Given the description of an element on the screen output the (x, y) to click on. 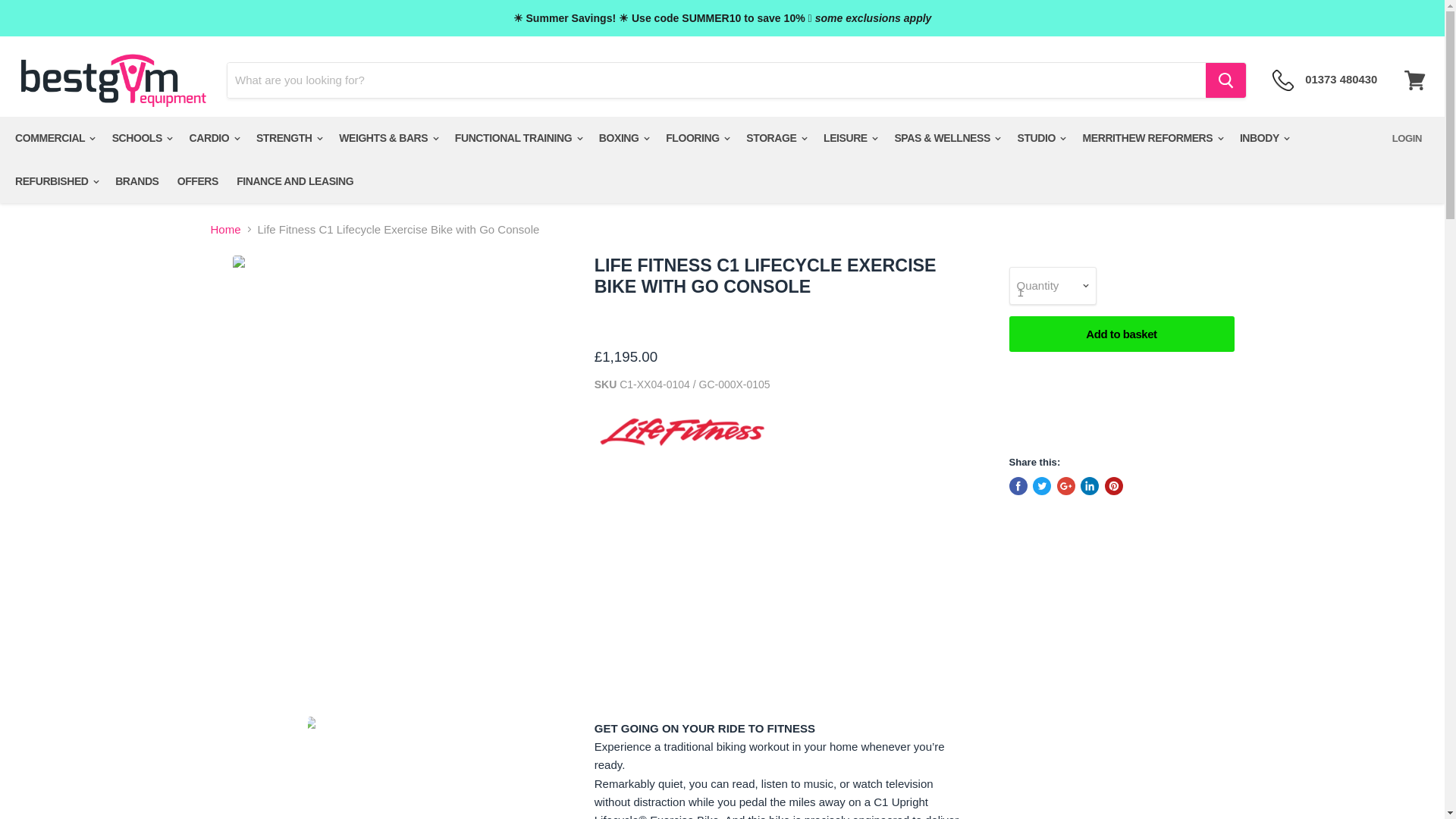
COMMERCIAL (53, 137)
SCHOOLS (141, 137)
CARDIO (214, 137)
View basket (1414, 80)
YouTube video player (781, 577)
